Given the description of an element on the screen output the (x, y) to click on. 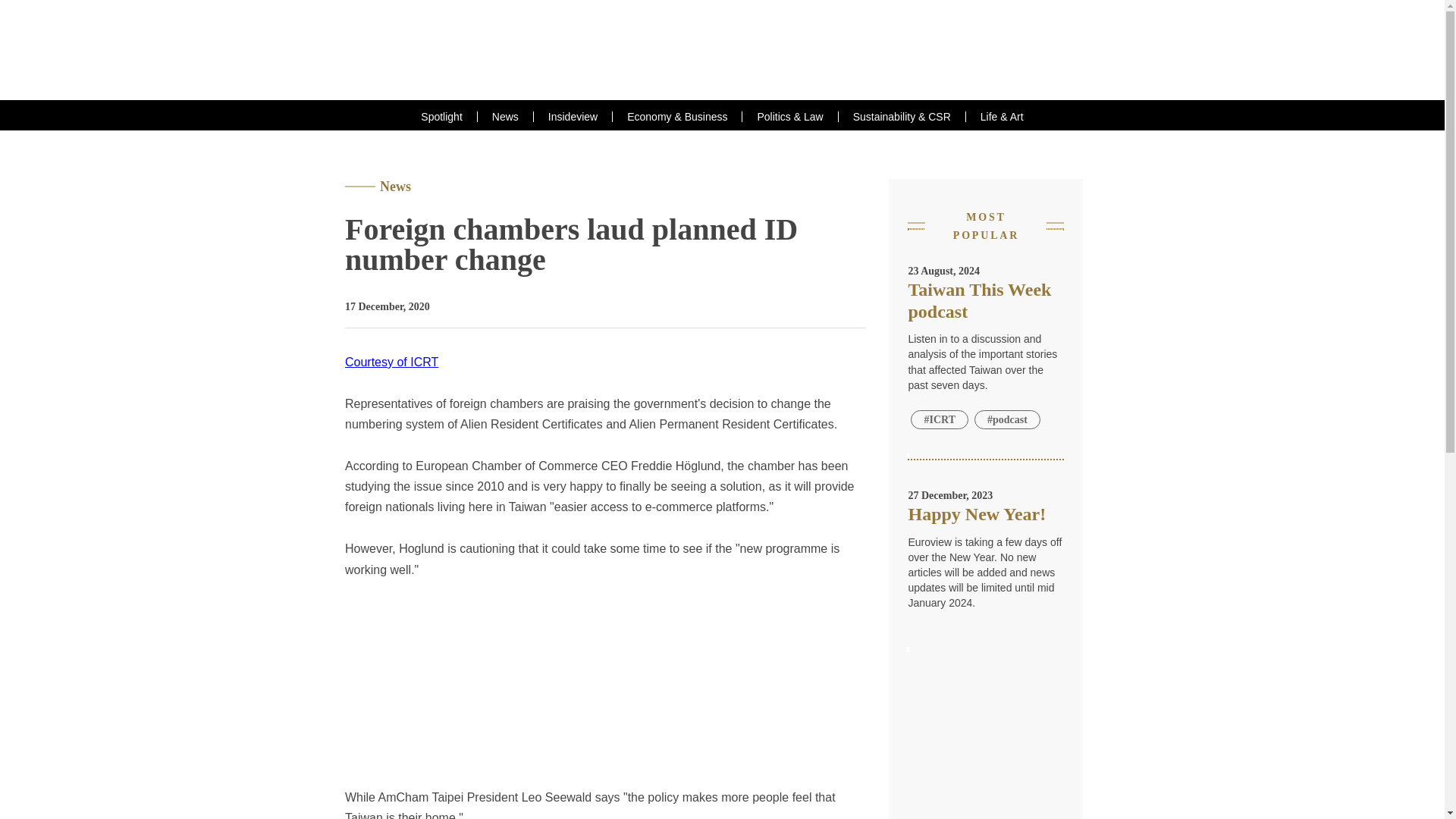
News (505, 116)
Courtesy of ICRT (391, 361)
ECCT (722, 49)
Spotlight (441, 116)
Insideview (573, 116)
